Given the description of an element on the screen output the (x, y) to click on. 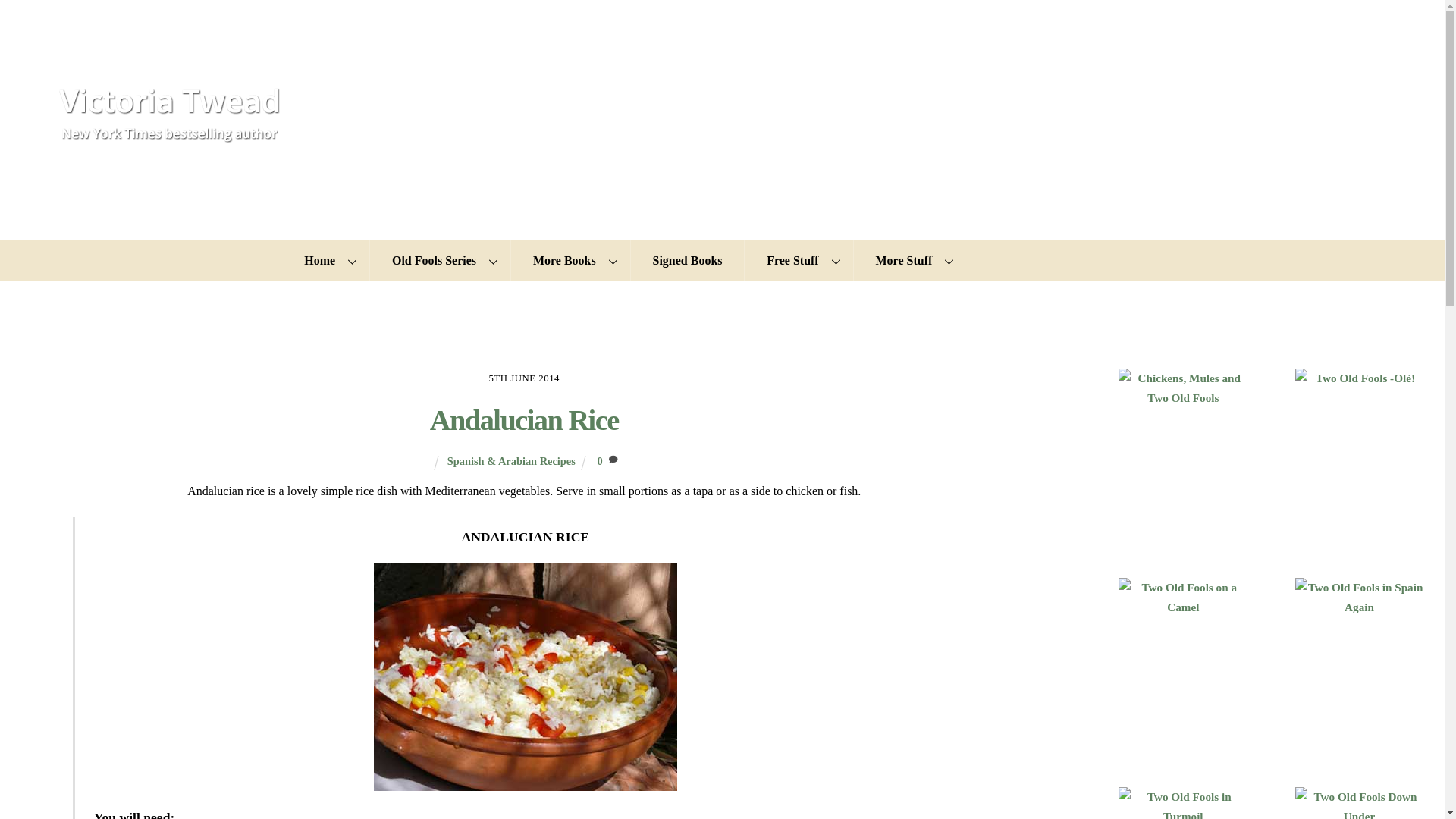
Old Fools Series (440, 260)
Old Fools series, Book 5 (1182, 803)
Signed Books (687, 260)
Old Fools series, Book 6 (1359, 803)
Andalucian Rice (523, 419)
Free Stuff (797, 260)
More Stuff (909, 260)
More Books (570, 260)
Victoria Twead (171, 136)
Home (325, 260)
